Given the description of an element on the screen output the (x, y) to click on. 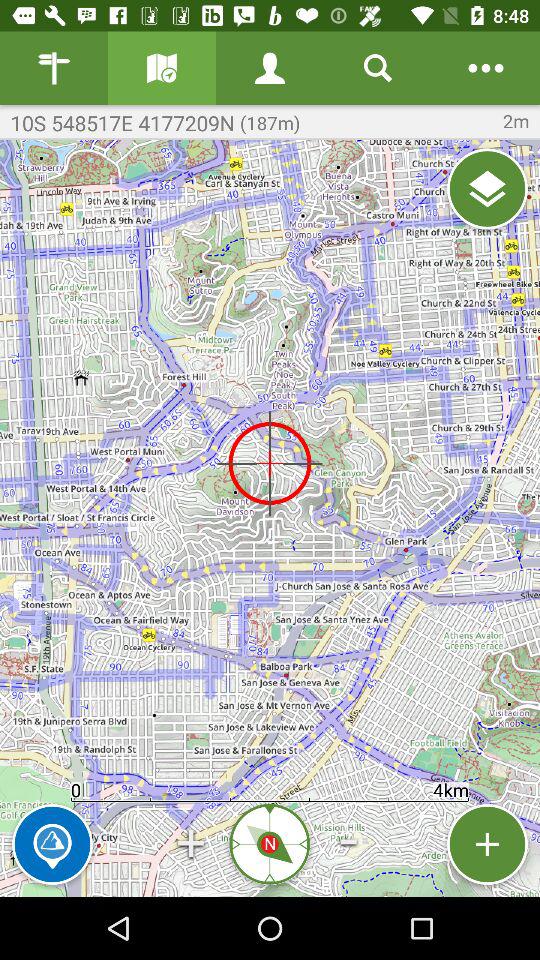
add pin location to map (487, 844)
